Given the description of an element on the screen output the (x, y) to click on. 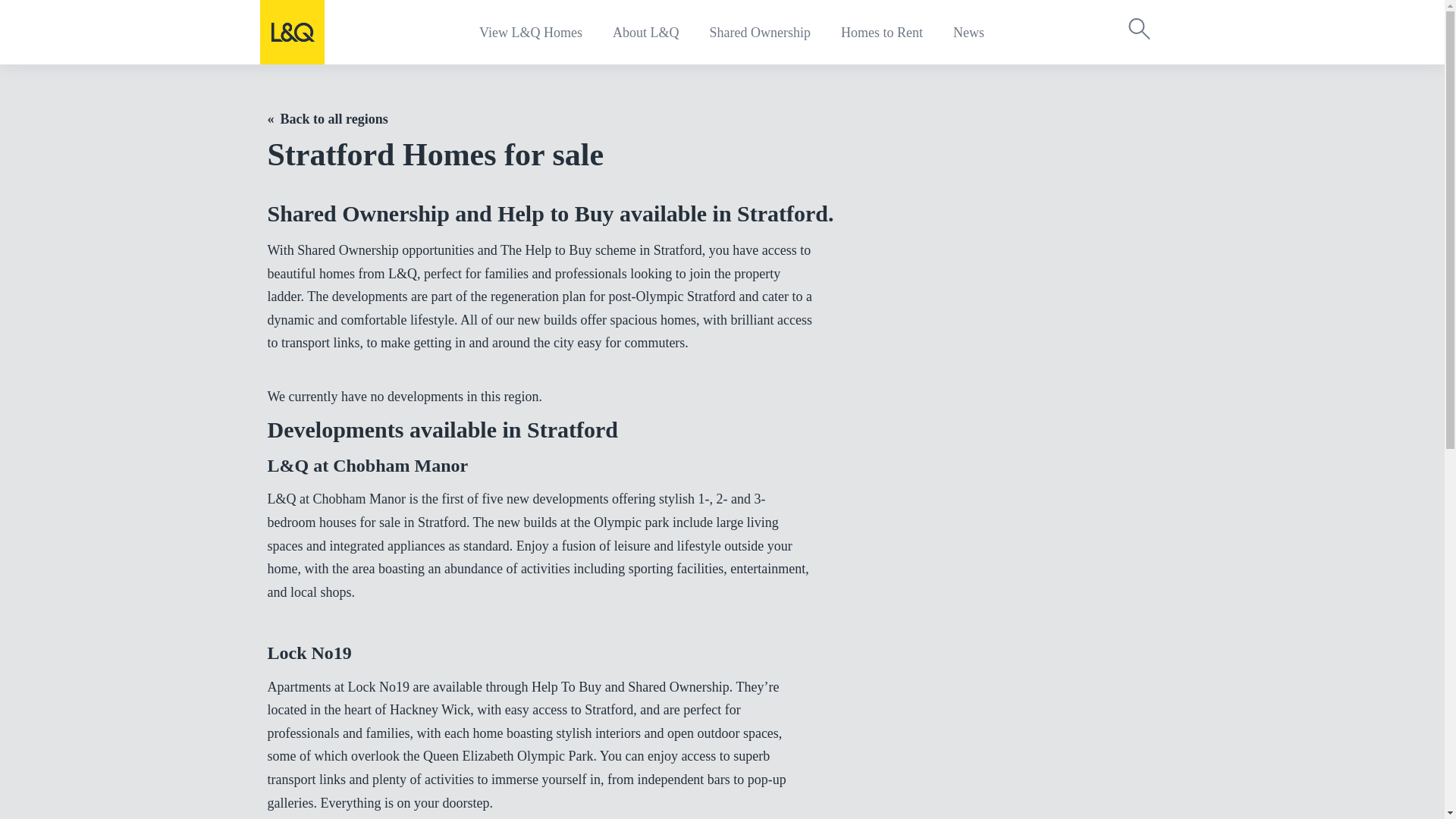
Homes to Rent (882, 32)
Shared Ownership (759, 32)
Back to all regions (326, 119)
